Given the description of an element on the screen output the (x, y) to click on. 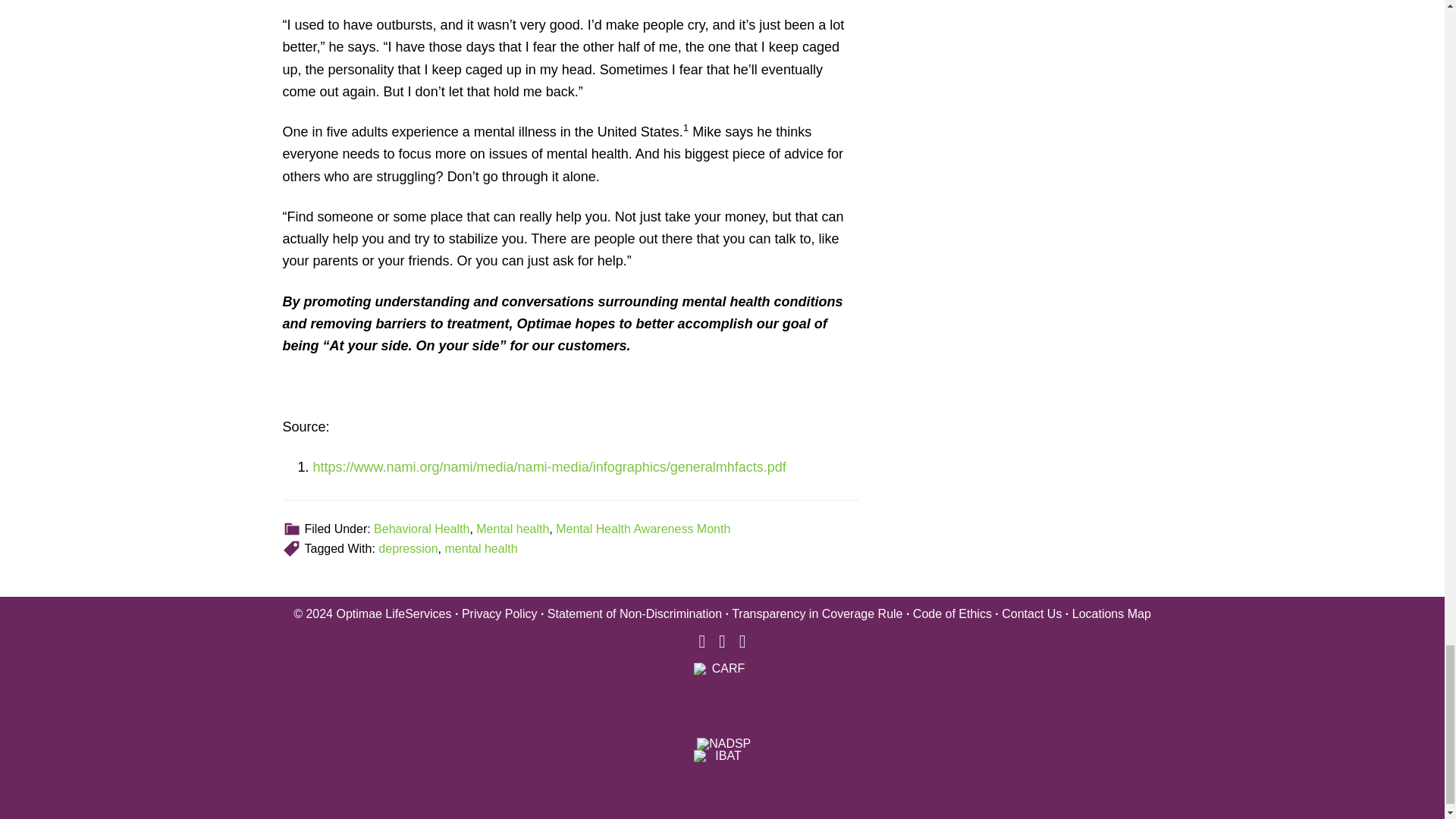
Code of Ethics (951, 613)
Behavioral Health (421, 528)
Statement of Non-Discrimination (634, 613)
Transparency in Coverage Rule (817, 613)
